Given the description of an element on the screen output the (x, y) to click on. 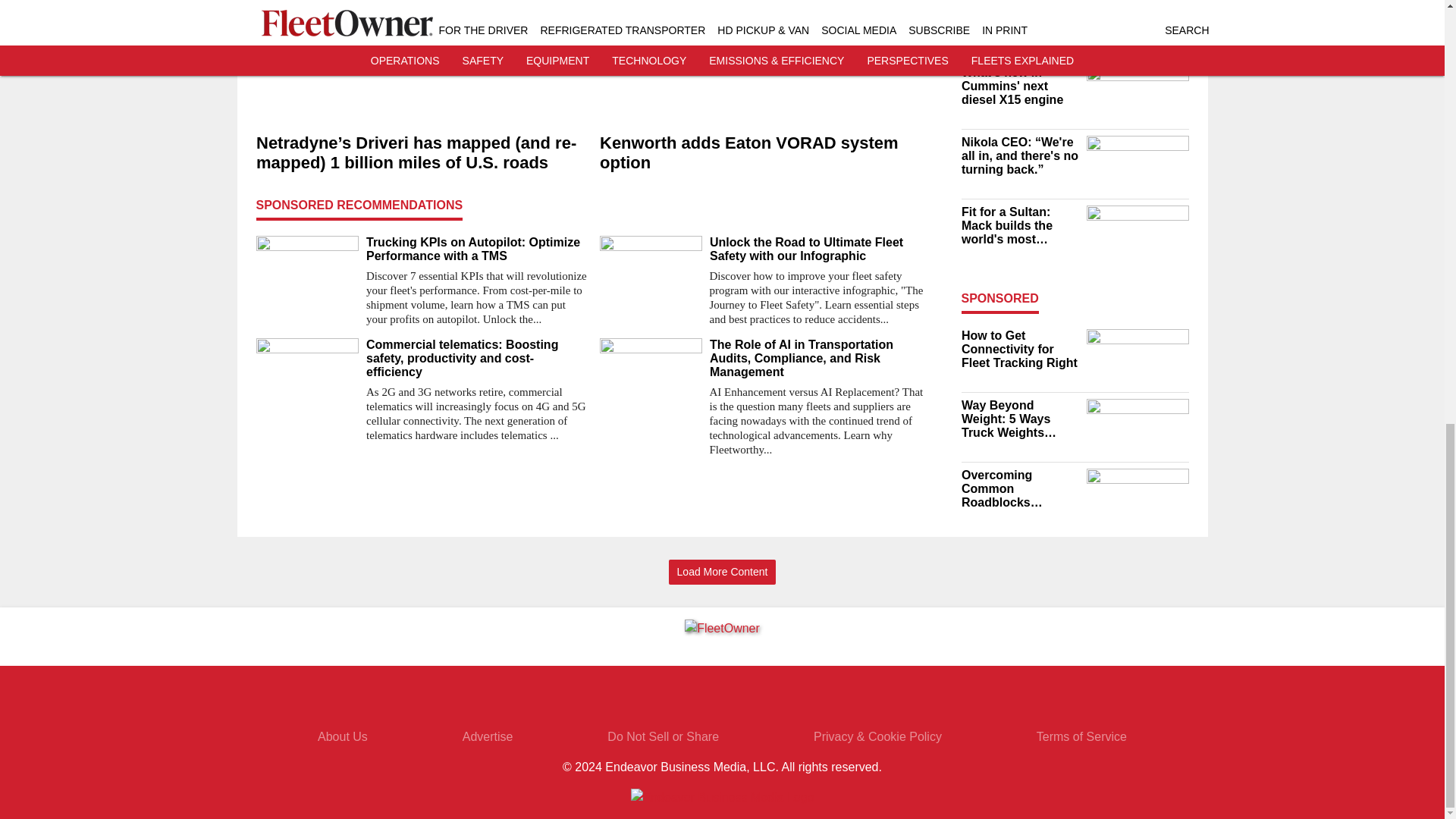
Kenworth adds Eaton VORAD system option (764, 152)
Trucking KPIs on Autopilot: Optimize Performance with a TMS (476, 248)
